Given the description of an element on the screen output the (x, y) to click on. 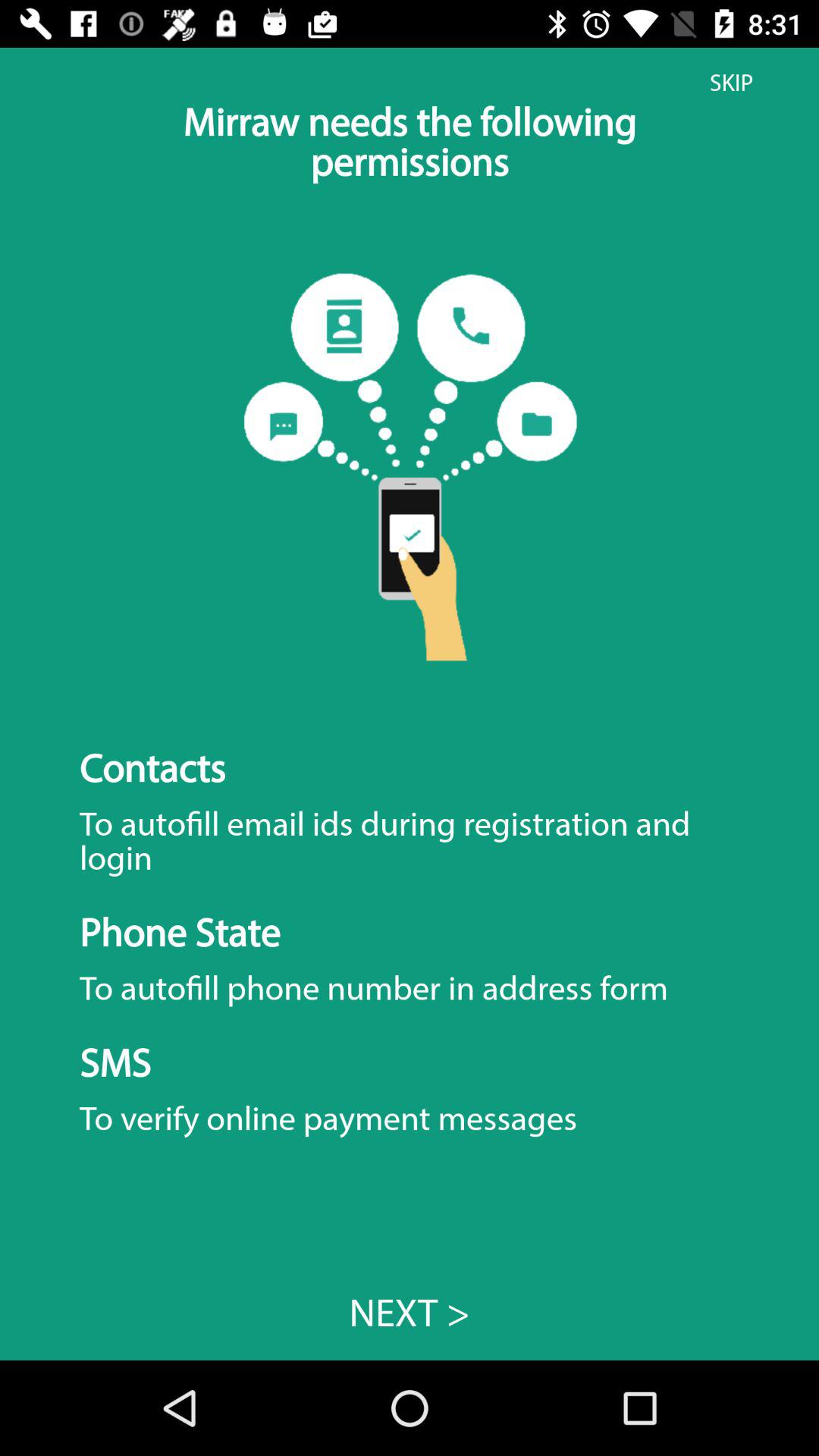
flip until skip (731, 83)
